Given the description of an element on the screen output the (x, y) to click on. 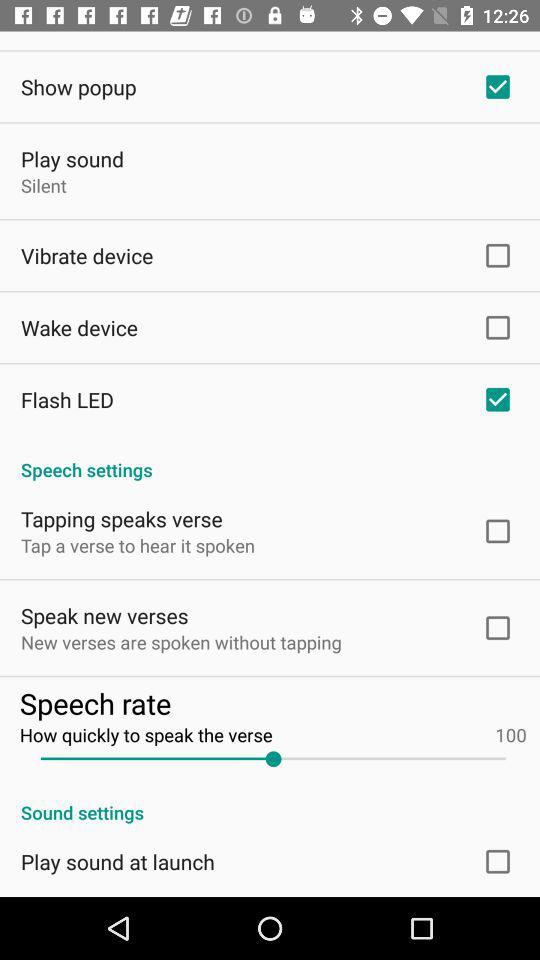
launch the app above the flash led app (79, 327)
